Given the description of an element on the screen output the (x, y) to click on. 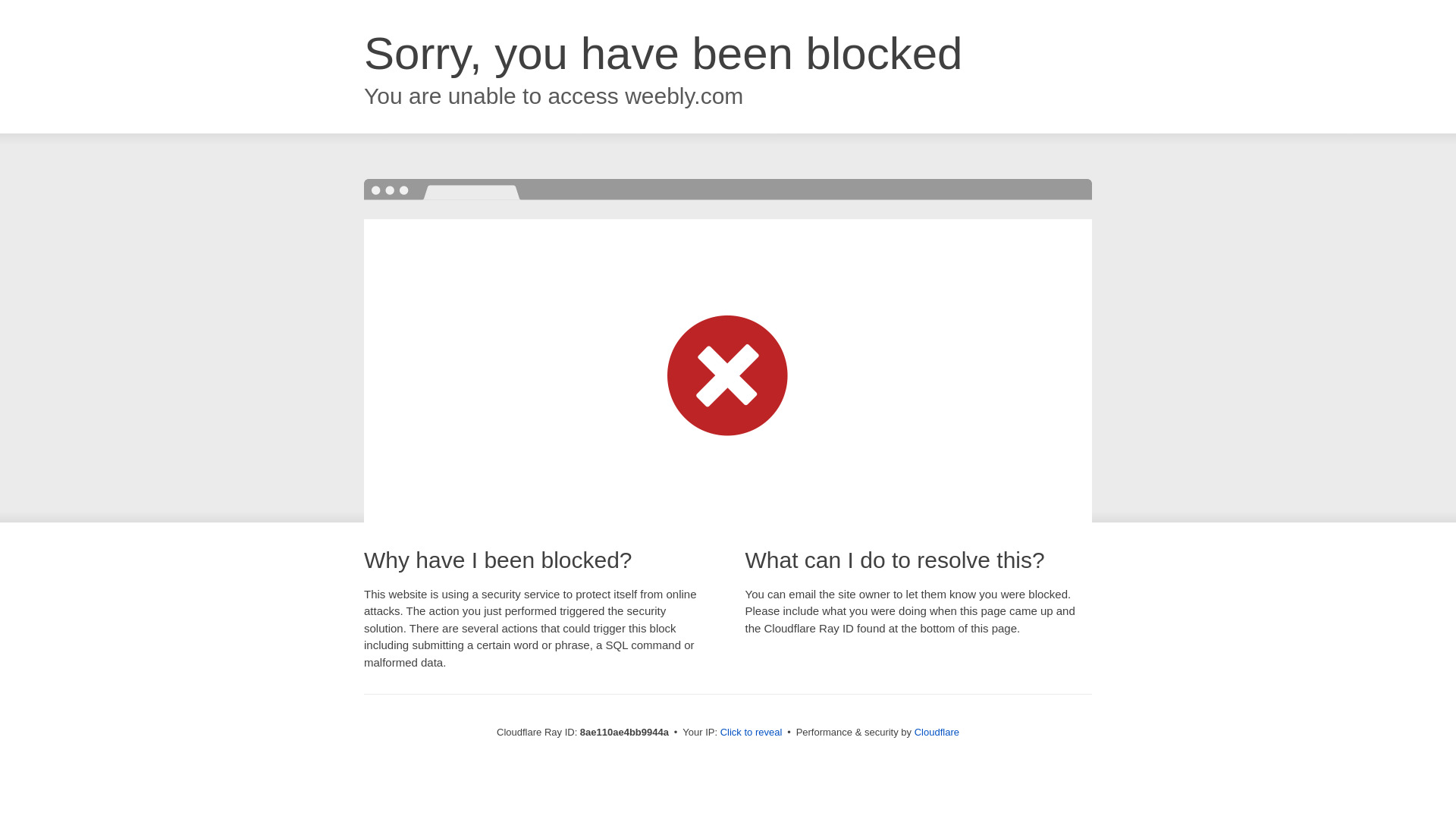
Cloudflare (936, 731)
Click to reveal (751, 732)
